Given the description of an element on the screen output the (x, y) to click on. 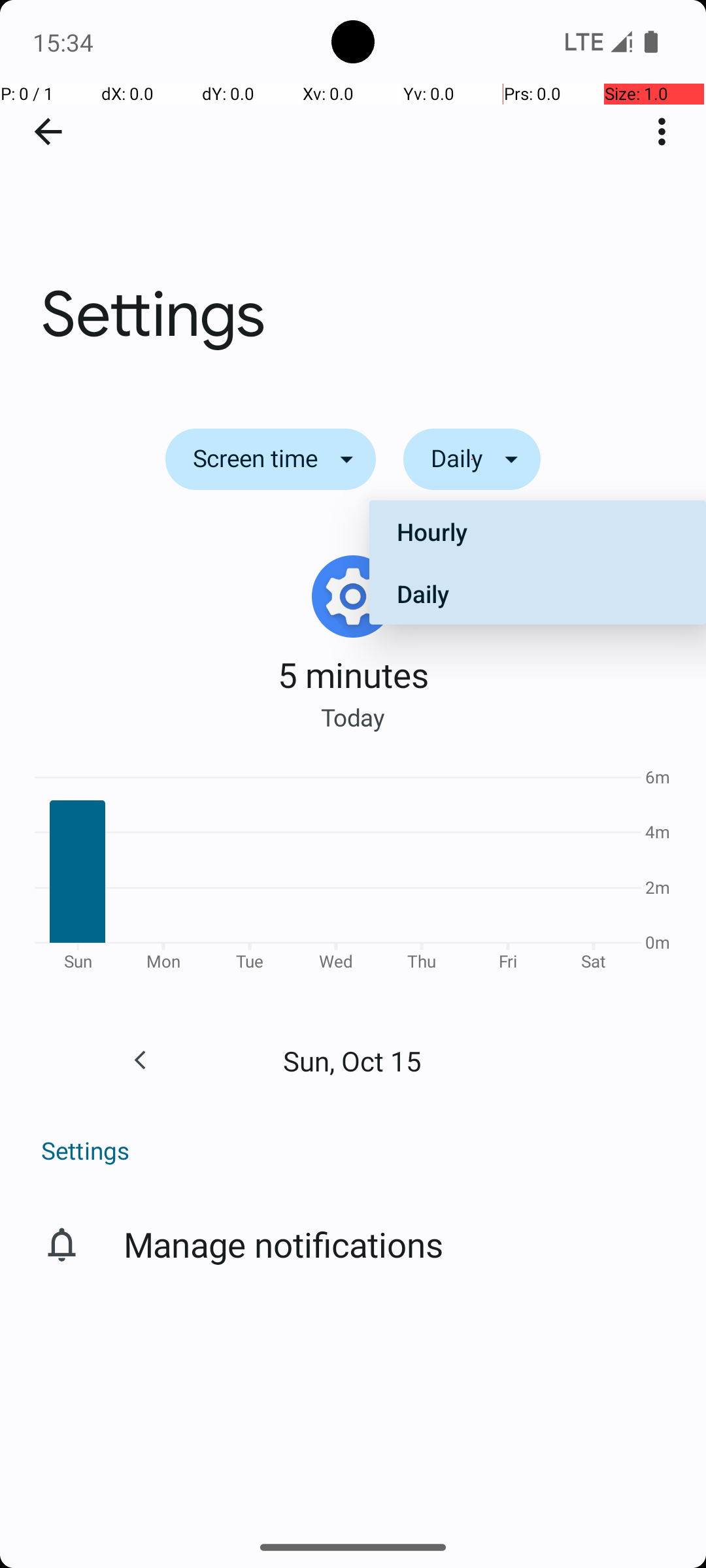
Hourly Element type: android.widget.TextView (537, 531)
